Given the description of an element on the screen output the (x, y) to click on. 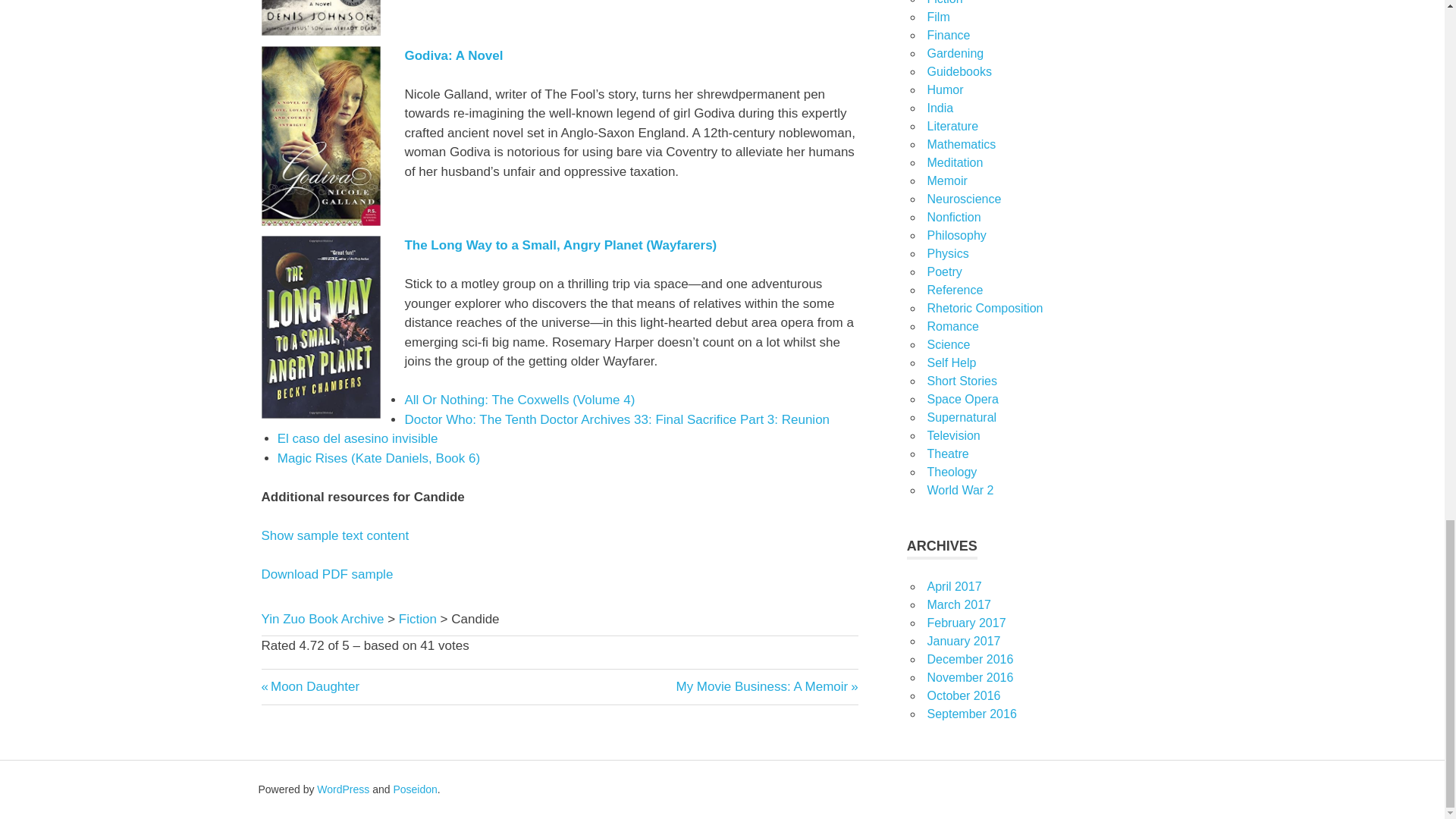
El caso del asesino invisible (358, 438)
Go to the Fiction category archives. (309, 686)
WordPress (417, 618)
Fiction (343, 788)
Click to show sample text from this book (417, 618)
Poseidon WordPress Theme (334, 535)
Download PDF sample (414, 788)
Yin Zuo Book Archive (766, 686)
